Given the description of an element on the screen output the (x, y) to click on. 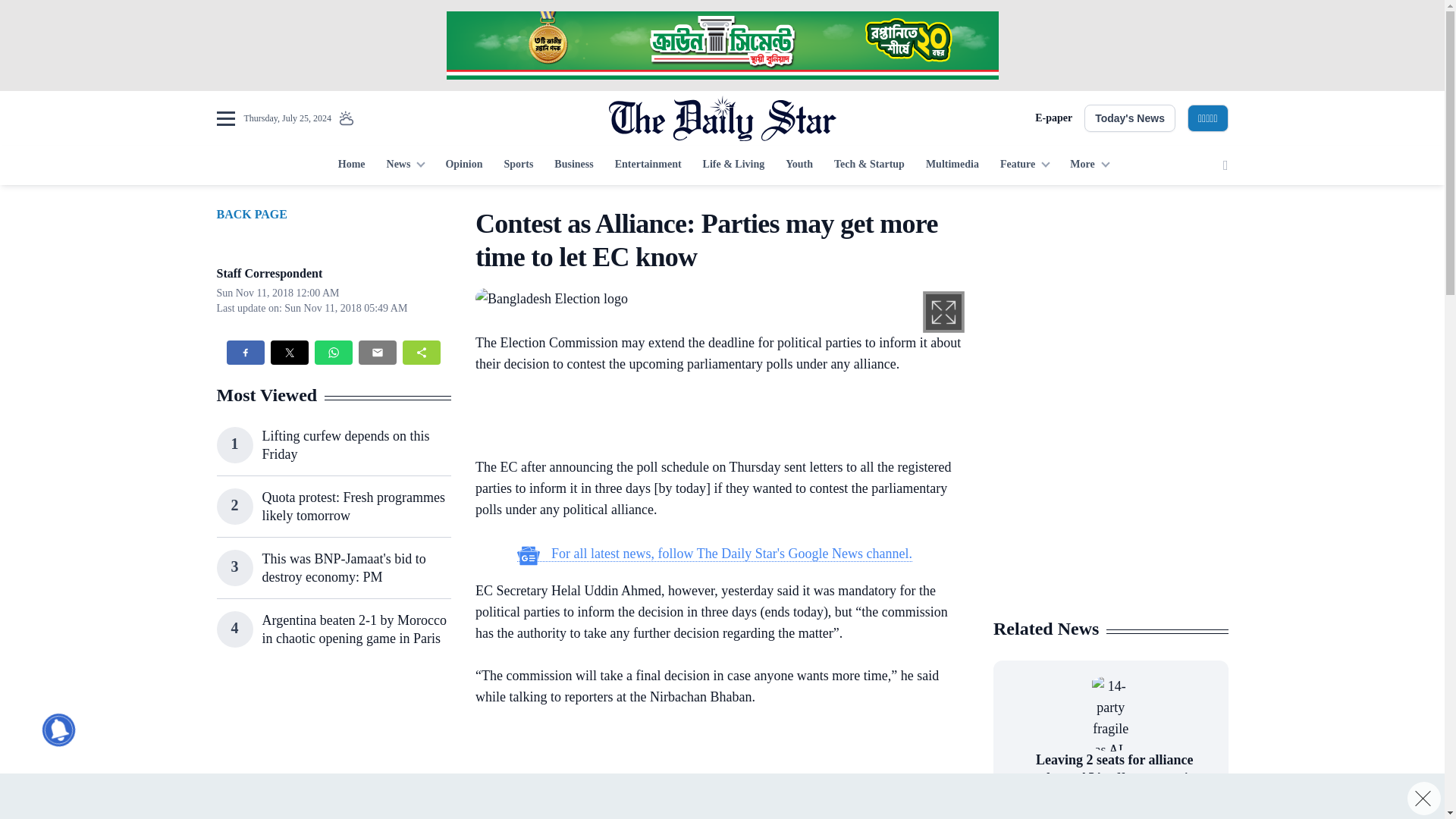
News (405, 165)
3rd party ad content (332, 749)
3rd party ad content (721, 45)
Opinion (463, 165)
3rd party ad content (1110, 506)
Feature (1024, 165)
Bangladesh Election logo (551, 298)
3rd party ad content (714, 418)
Multimedia (952, 165)
Bangladesh Election logo (551, 296)
3rd party ad content (1110, 302)
Youth (799, 165)
Home (351, 165)
E-paper (1053, 117)
